Given the description of an element on the screen output the (x, y) to click on. 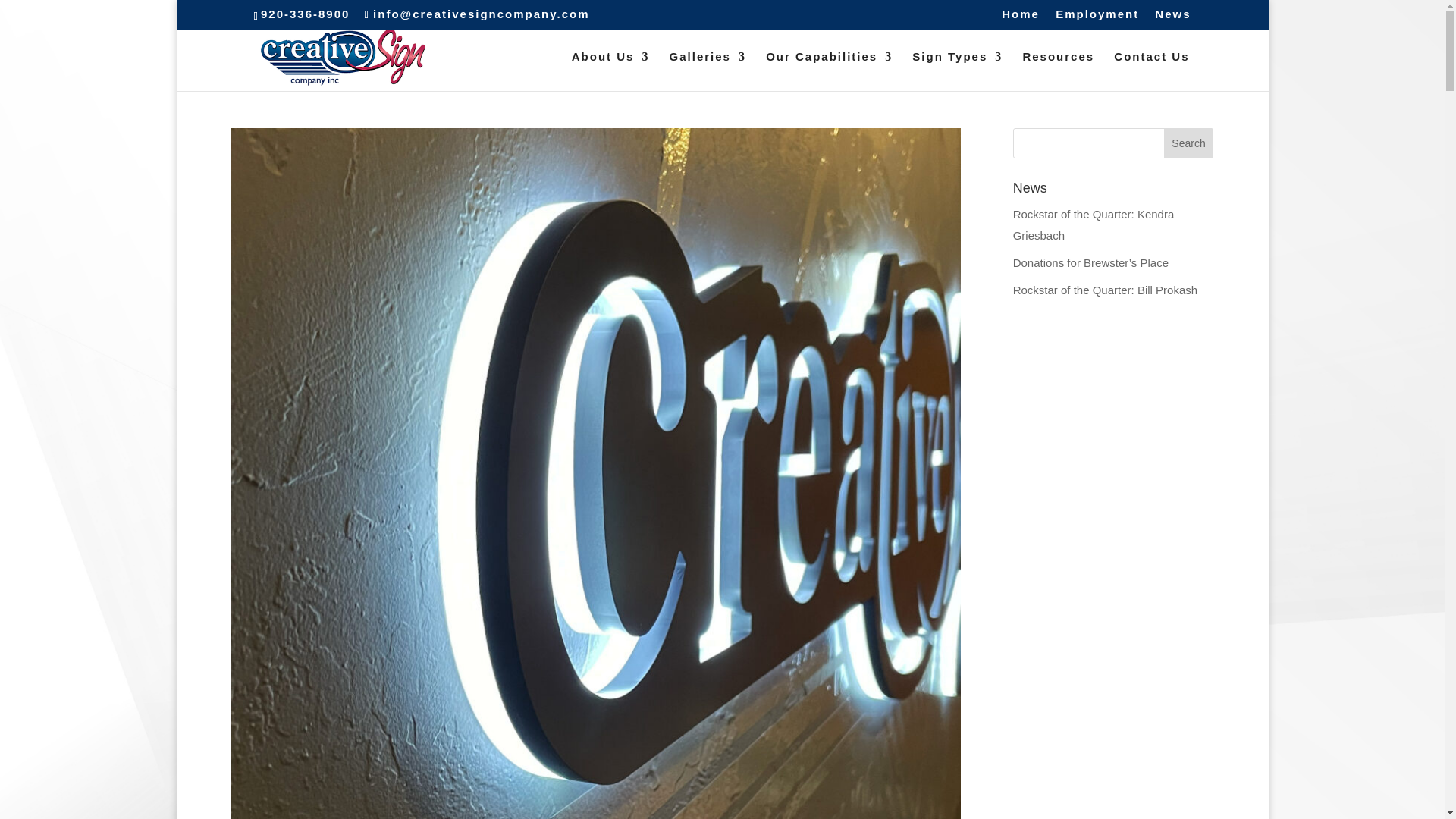
About Us (610, 70)
Search (1188, 142)
Galleries (707, 70)
Employment (1096, 17)
Home (1020, 17)
News (1172, 17)
